Given the description of an element on the screen output the (x, y) to click on. 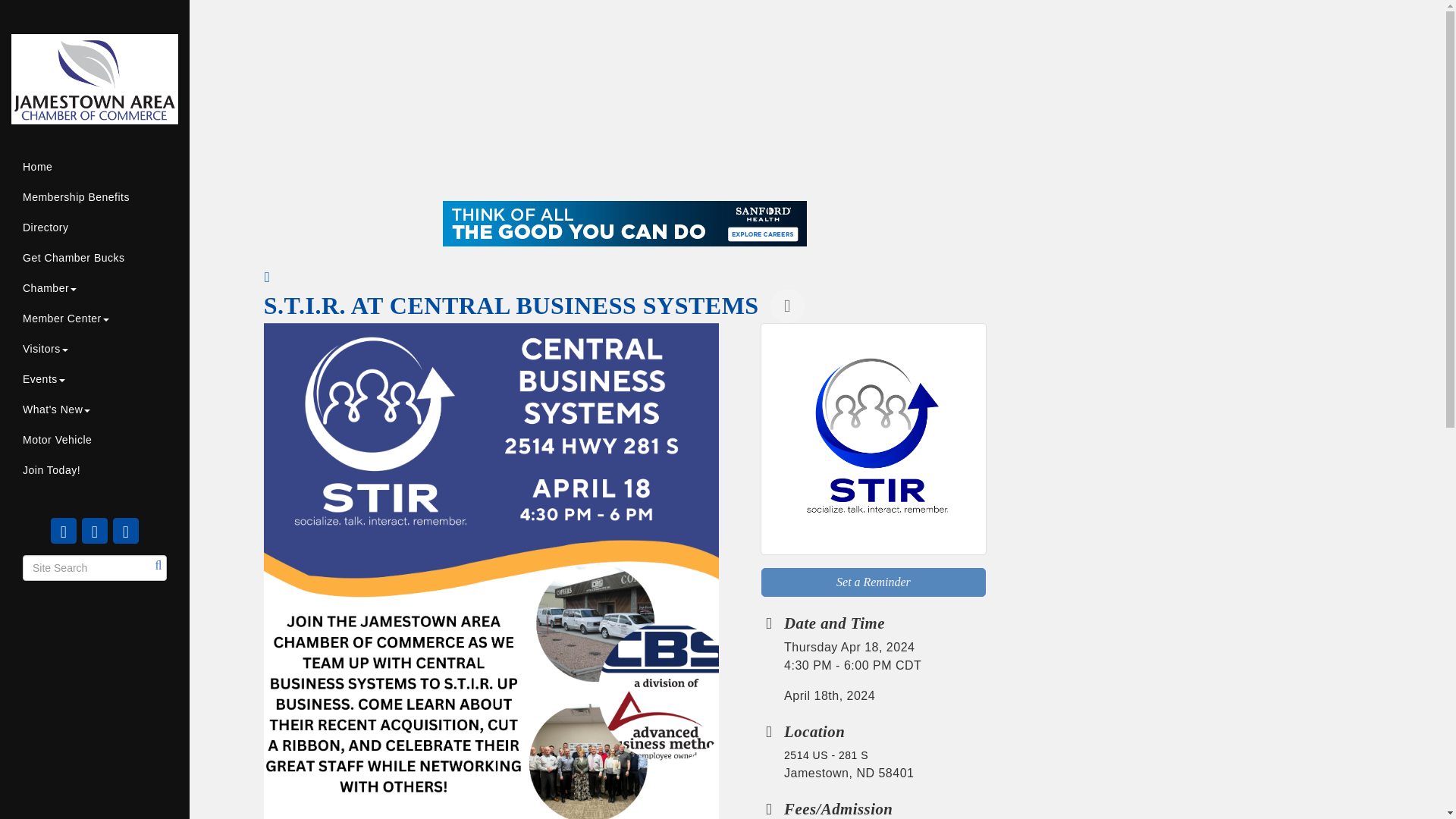
Get Chamber Bucks (94, 257)
Home (94, 166)
Icon Link (125, 530)
Icon Link (94, 530)
Chamber (94, 287)
Motor Vehicle (94, 440)
Directory (94, 227)
Join Today! (94, 470)
Visitors (94, 348)
What's New (94, 409)
